Given the description of an element on the screen output the (x, y) to click on. 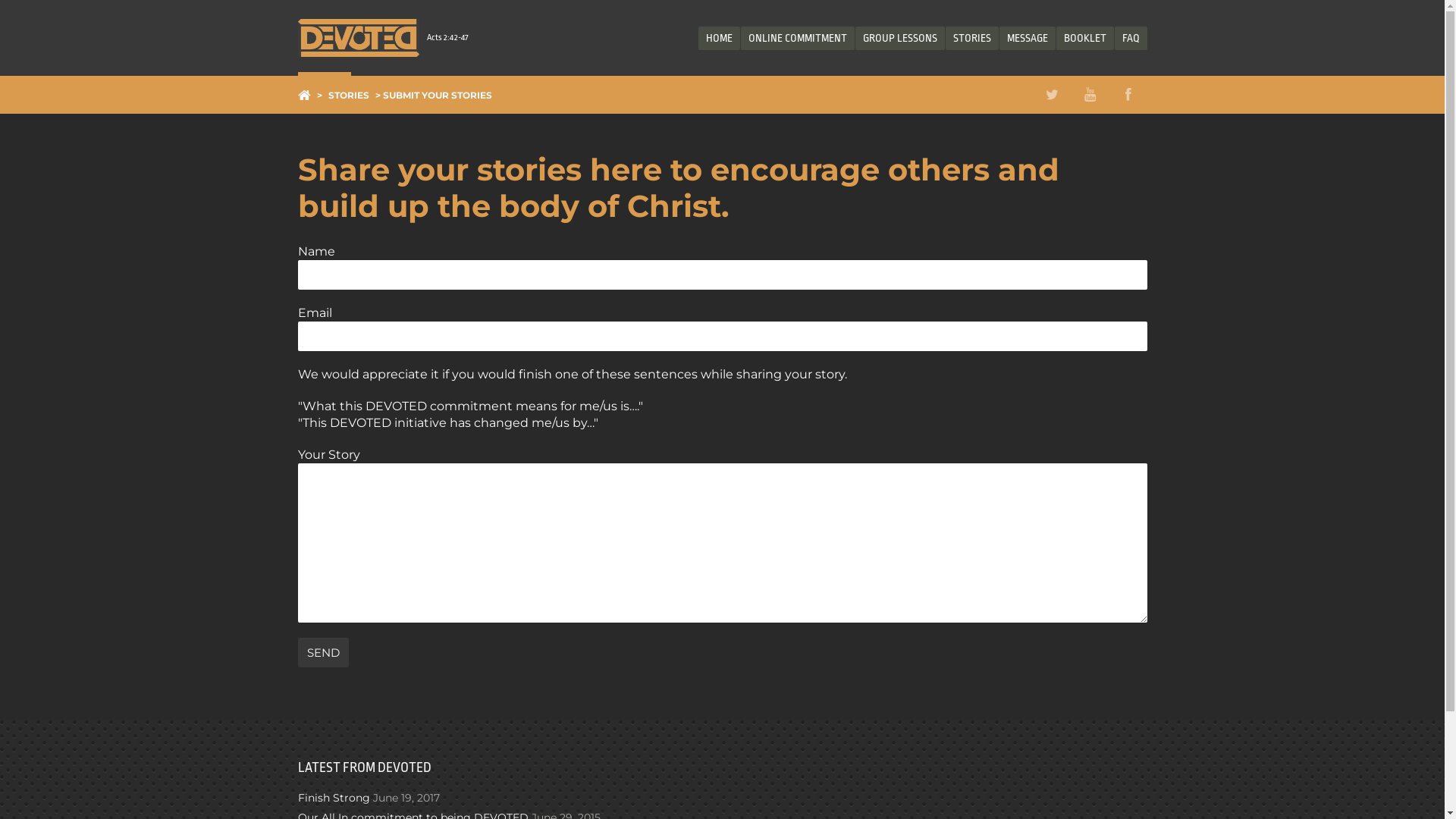
FAQ Element type: text (1130, 37)
MESSAGE Element type: text (1027, 37)
242Devoted Element type: hover (358, 37)
BOOKLET Element type: text (1084, 37)
Finish Strong Element type: text (333, 797)
Send Element type: text (322, 652)
STORIES Element type: text (348, 94)
HOME Element type: text (718, 37)
GROUP LESSONS Element type: text (899, 37)
ONLINE COMMITMENT Element type: text (796, 37)
STORIES Element type: text (970, 37)
